Given the description of an element on the screen output the (x, y) to click on. 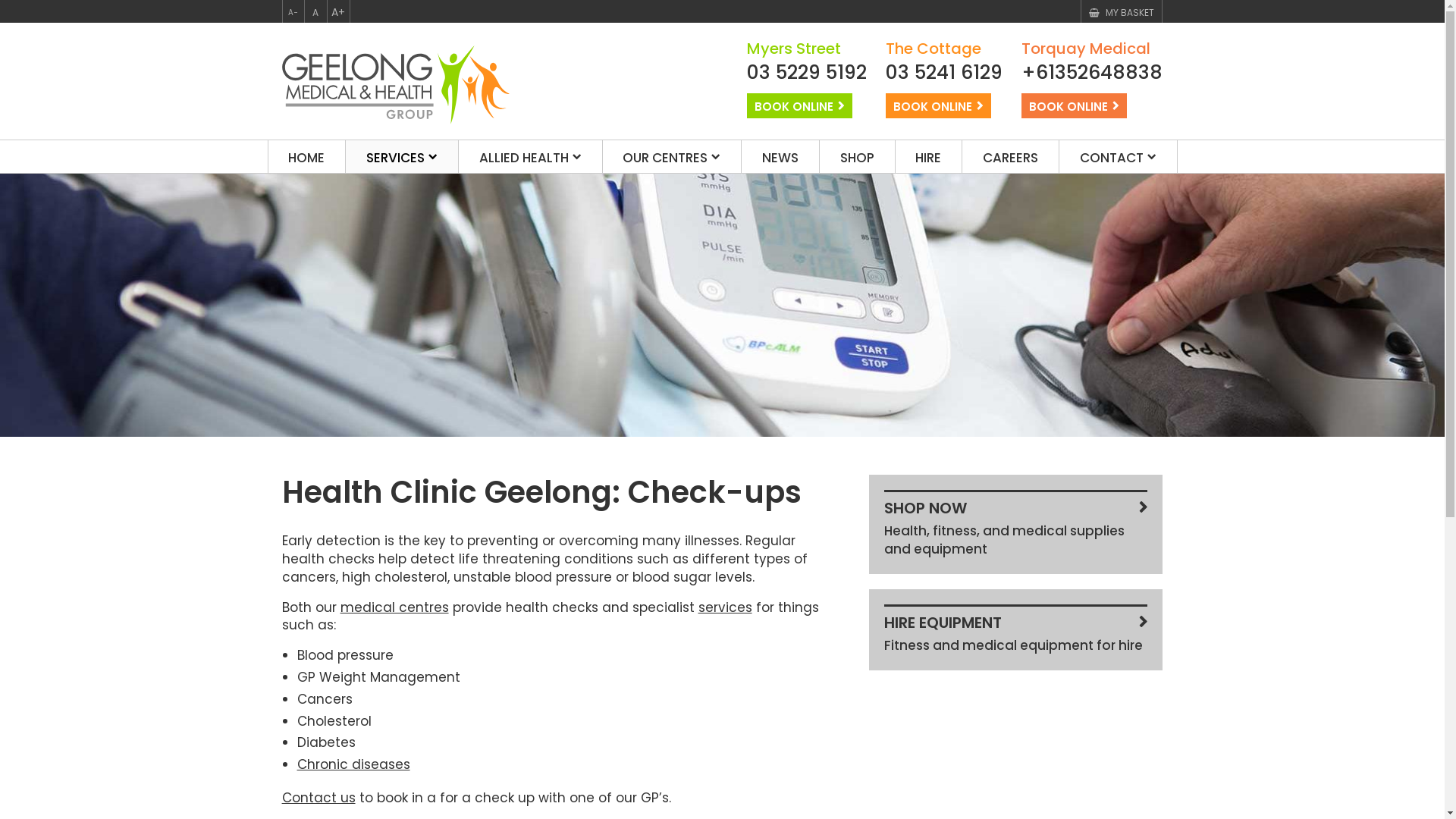
A Element type: text (315, 11)
Contact us Element type: text (318, 797)
HIRE EQUIPMENT Element type: text (1015, 620)
services Element type: text (725, 607)
NEWS Element type: text (780, 156)
HOME Element type: text (306, 156)
CAREERS Element type: text (1010, 156)
medical centres Element type: text (394, 607)
A+ Element type: text (338, 11)
CONTACT Element type: text (1117, 156)
BOOK ONLINE Element type: text (799, 105)
SERVICES Element type: text (401, 156)
ALLIED HEALTH Element type: text (530, 156)
MY BASKET Element type: text (1121, 12)
BOOK ONLINE Element type: text (938, 105)
SHOP Element type: text (856, 156)
HIRE Element type: text (928, 156)
SHOP NOW Element type: text (1015, 505)
OUR CENTRES Element type: text (671, 156)
BOOK ONLINE Element type: text (1073, 105)
Chronic diseases Element type: text (353, 764)
